Given the description of an element on the screen output the (x, y) to click on. 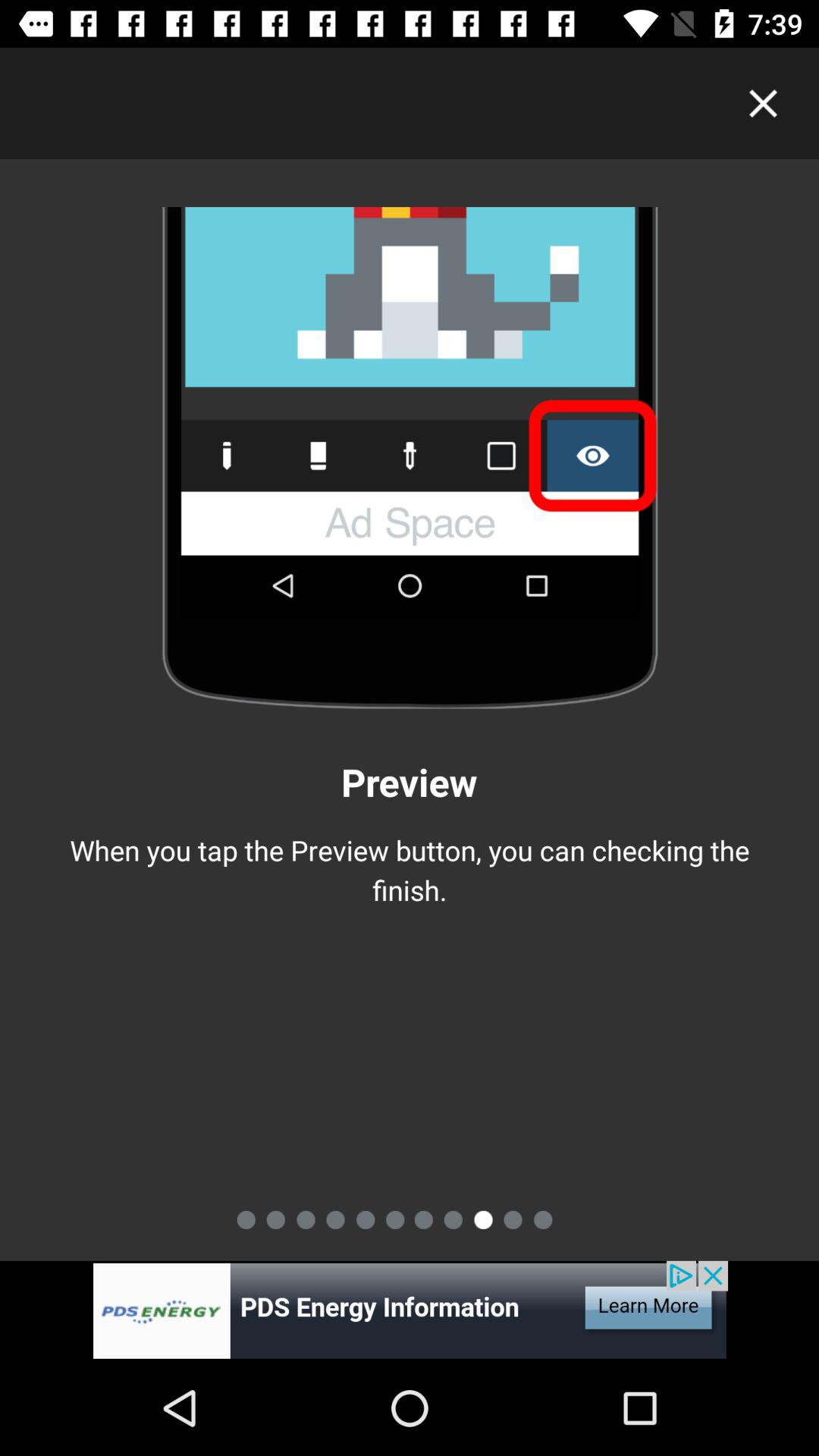
adverstment button (409, 1310)
